Given the description of an element on the screen output the (x, y) to click on. 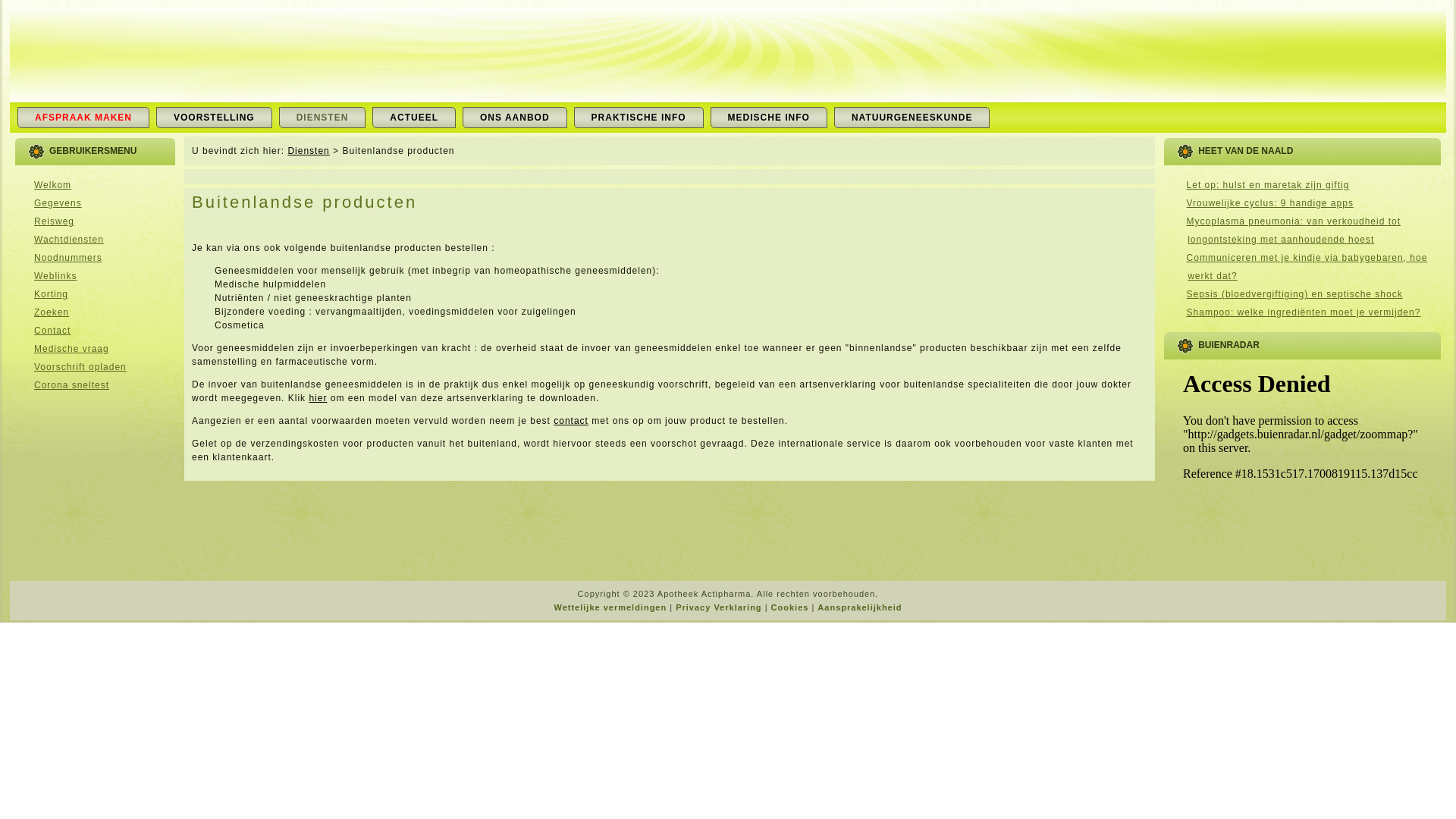
Noodnummers Element type: text (68, 257)
Sepsis (bloedvergiftiging) en septische shock Element type: text (1294, 293)
contact Element type: text (570, 420)
Weblinks Element type: text (55, 275)
VOORSTELLING Element type: text (214, 117)
Communiceren met je kindje via babygebaren, hoe werkt dat? Element type: text (1306, 266)
Wachtdiensten Element type: text (68, 239)
Corona sneltest Element type: text (71, 384)
Vrouwelijke cyclus: 9 handige apps Element type: text (1269, 202)
Reisweg Element type: text (54, 221)
hier Element type: text (317, 397)
PRAKTISCHE INFO Element type: text (638, 117)
Aansprakelijkheid Element type: text (859, 606)
AFSPRAAK MAKEN Element type: text (83, 117)
ONS AANBOD Element type: text (514, 117)
Privacy Verklaring Element type: text (718, 606)
Diensten Element type: text (308, 150)
NATUURGENEESKUNDE Element type: text (911, 117)
Gegevens Element type: text (57, 202)
Let op: hulst en maretak zijn giftig Element type: text (1267, 184)
Medische vraag Element type: text (71, 348)
Zoeken Element type: text (51, 312)
Voorschrift opladen Element type: text (80, 366)
Korting Element type: text (51, 293)
Wettelijke vermeldingen Element type: text (609, 606)
MEDISCHE INFO Element type: text (768, 117)
Contact Element type: text (52, 330)
ACTUEEL Element type: text (413, 117)
DIENSTEN Element type: text (322, 117)
Cookies Element type: text (790, 606)
Welkom Element type: text (52, 184)
